Given the description of an element on the screen output the (x, y) to click on. 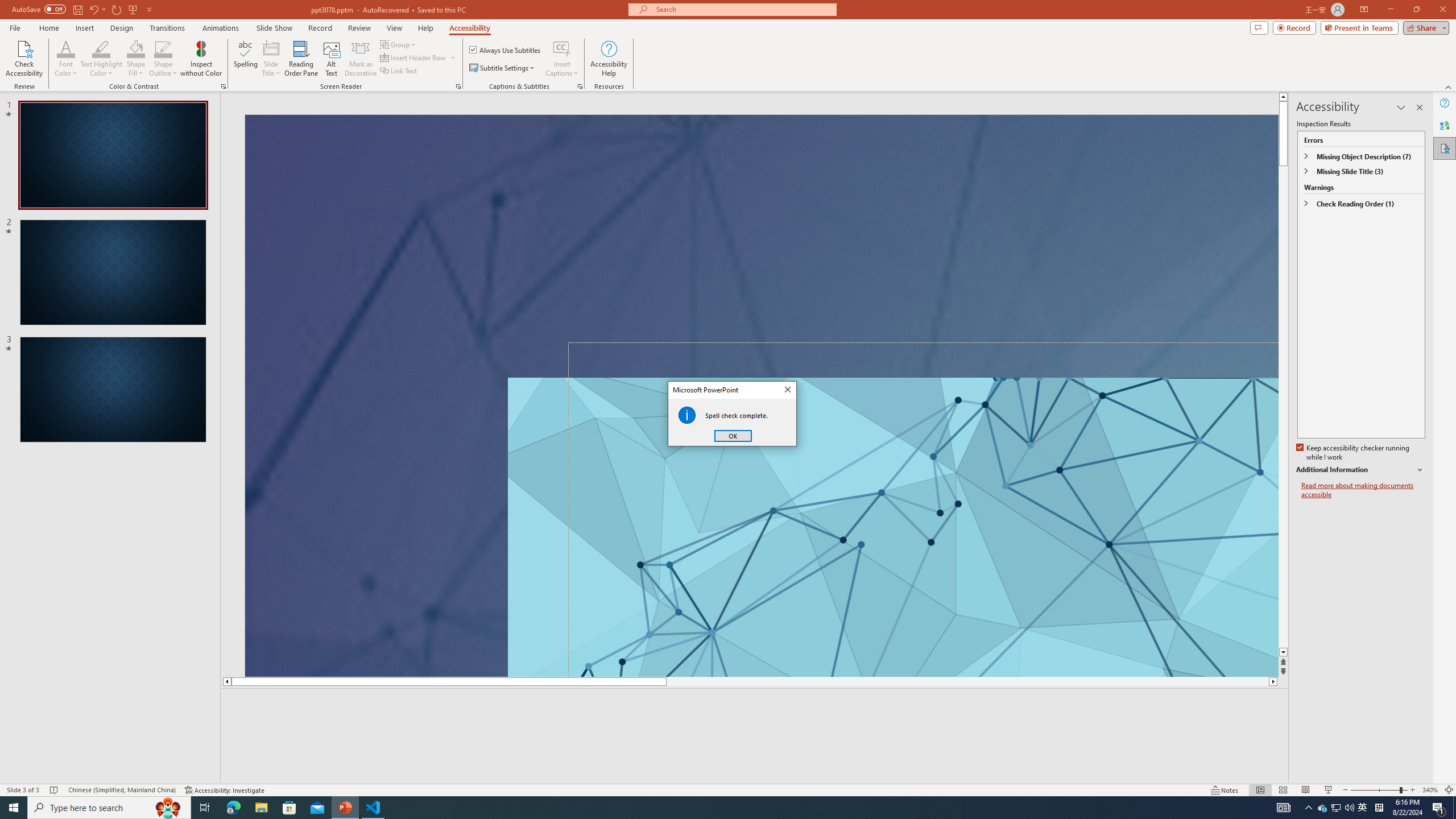
Insert Captions (561, 48)
Color & Contrast (223, 85)
Insert Header Row (413, 56)
Link Text (399, 69)
